Given the description of an element on the screen output the (x, y) to click on. 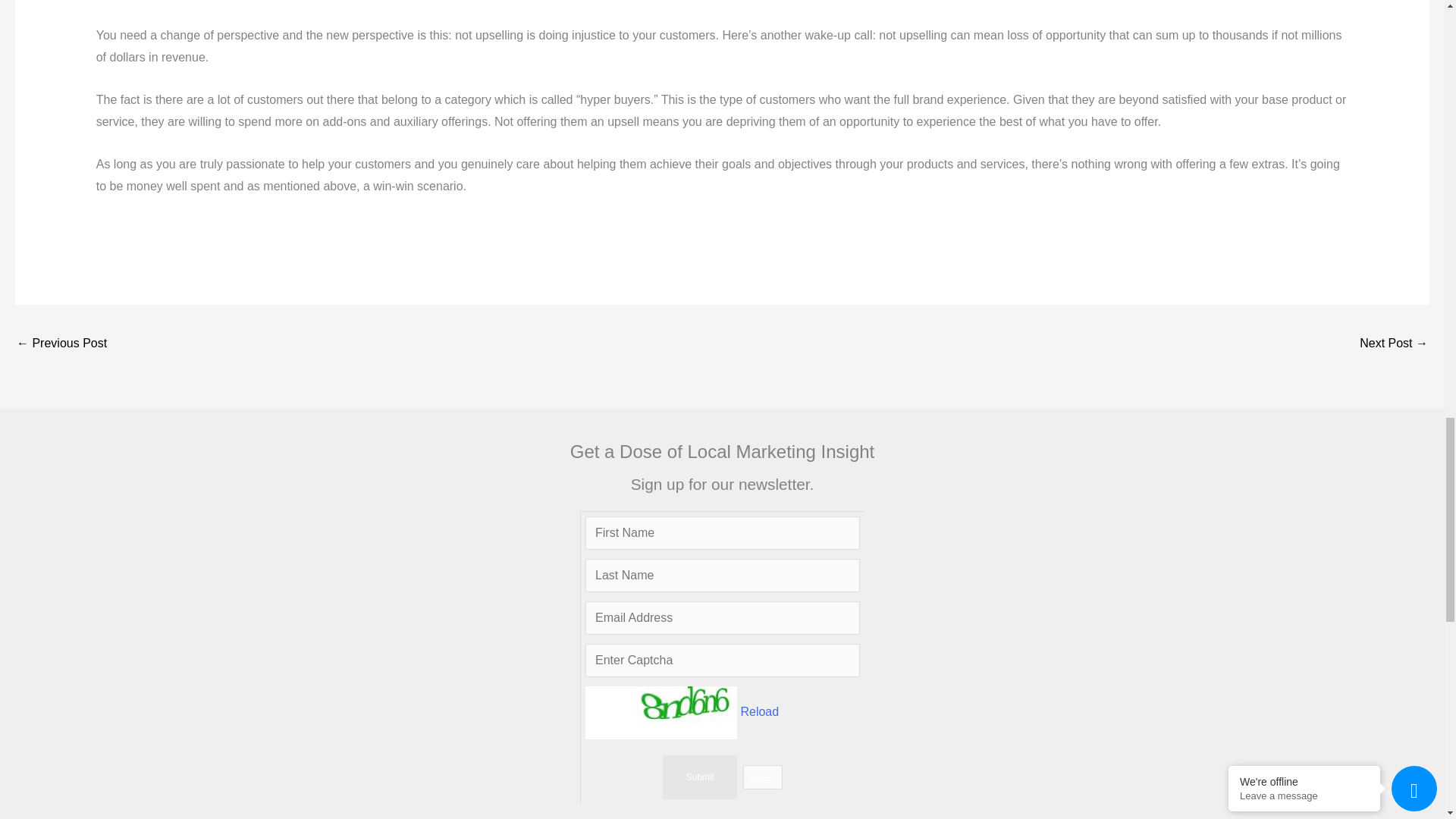
Submit (699, 777)
Submit (699, 777)
Reload (758, 711)
Reset (761, 776)
